Given the description of an element on the screen output the (x, y) to click on. 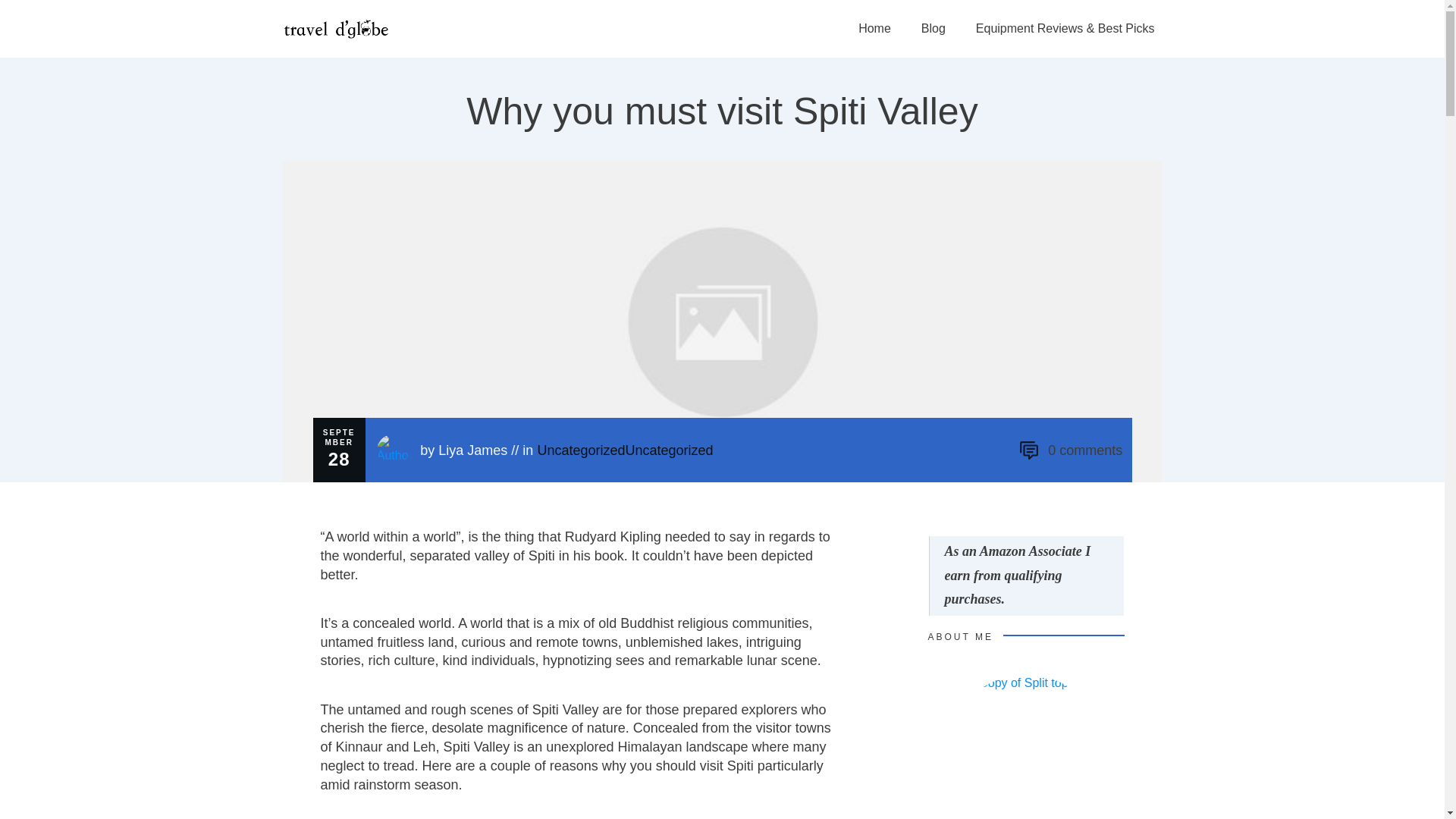
Uncategorized (668, 450)
Home (875, 28)
Liya James (472, 450)
Liya James (472, 450)
Uncategorized (668, 450)
Blog (932, 28)
Uncategorized (580, 450)
Uncategorized (580, 450)
Copy of Split top 02 (1026, 746)
